Given the description of an element on the screen output the (x, y) to click on. 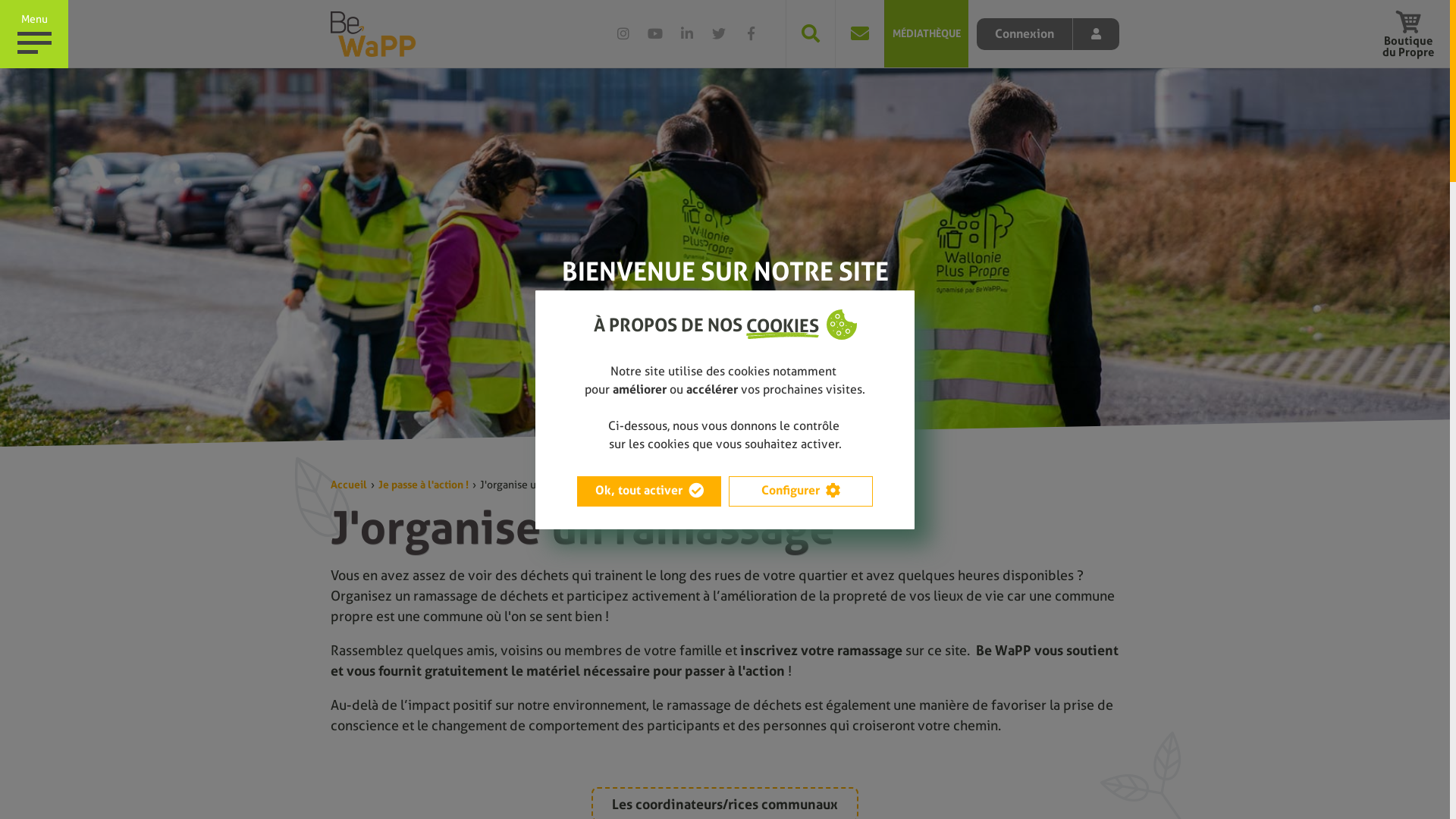
Accueil Element type: text (348, 484)
Linkedin Element type: hover (686, 33)
Boutique
du Propre Element type: text (1408, 34)
Rechercher Element type: hover (809, 33)
Configurer Element type: text (800, 491)
Twitter Element type: hover (718, 33)
Connexion Element type: text (1047, 34)
Instagram Element type: hover (623, 33)
Be WaPP Element type: hover (373, 33)
Youtube Element type: hover (654, 33)
Facebook Element type: hover (750, 33)
Ok, tout activer Element type: text (649, 491)
Nous contacter Element type: text (859, 33)
